Given the description of an element on the screen output the (x, y) to click on. 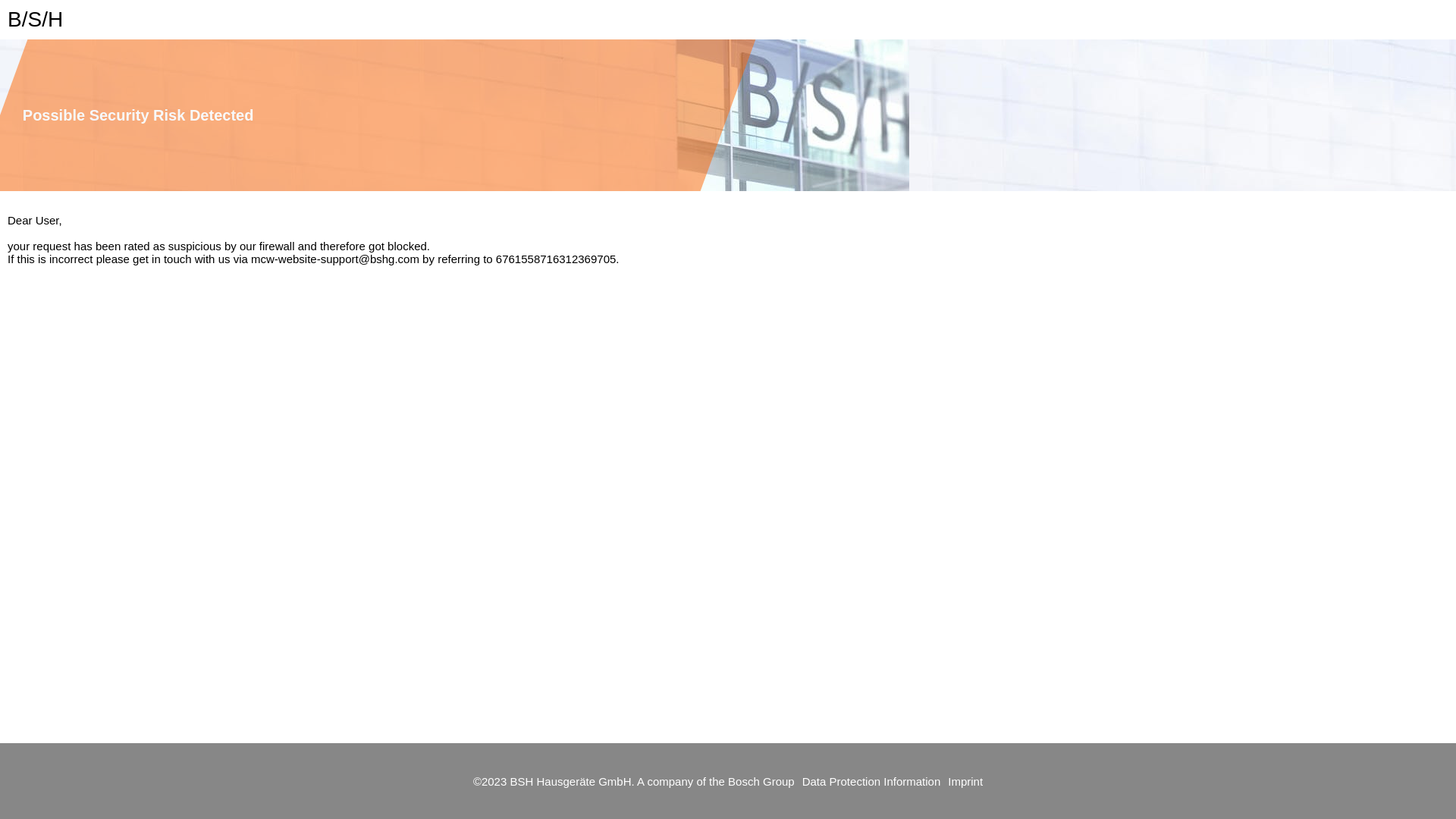
mcw-website-support@bshg.com Element type: text (335, 258)
Imprint Element type: text (968, 781)
Data Protection Information Element type: text (871, 781)
